Given the description of an element on the screen output the (x, y) to click on. 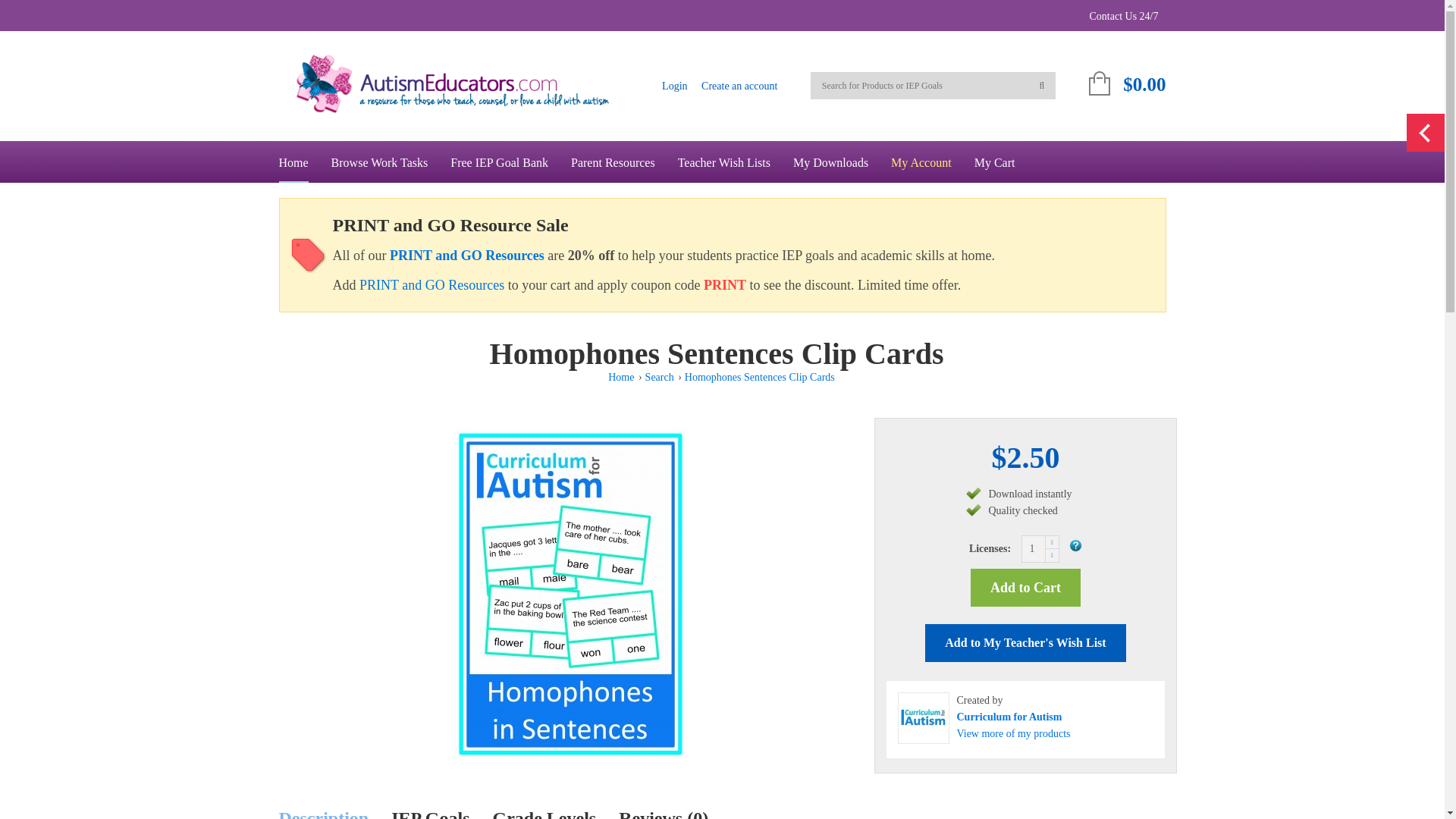
Home (292, 161)
Homophones Sentences Clip Cards (570, 594)
Add to My Teacher's Wish List (1024, 642)
Free IEP Goal Bank (499, 161)
1 (1040, 548)
Add to Cart (1025, 587)
Login (674, 85)
Create an account (739, 85)
Autism Educators (459, 83)
Browse Work Tasks (379, 161)
